Given the description of an element on the screen output the (x, y) to click on. 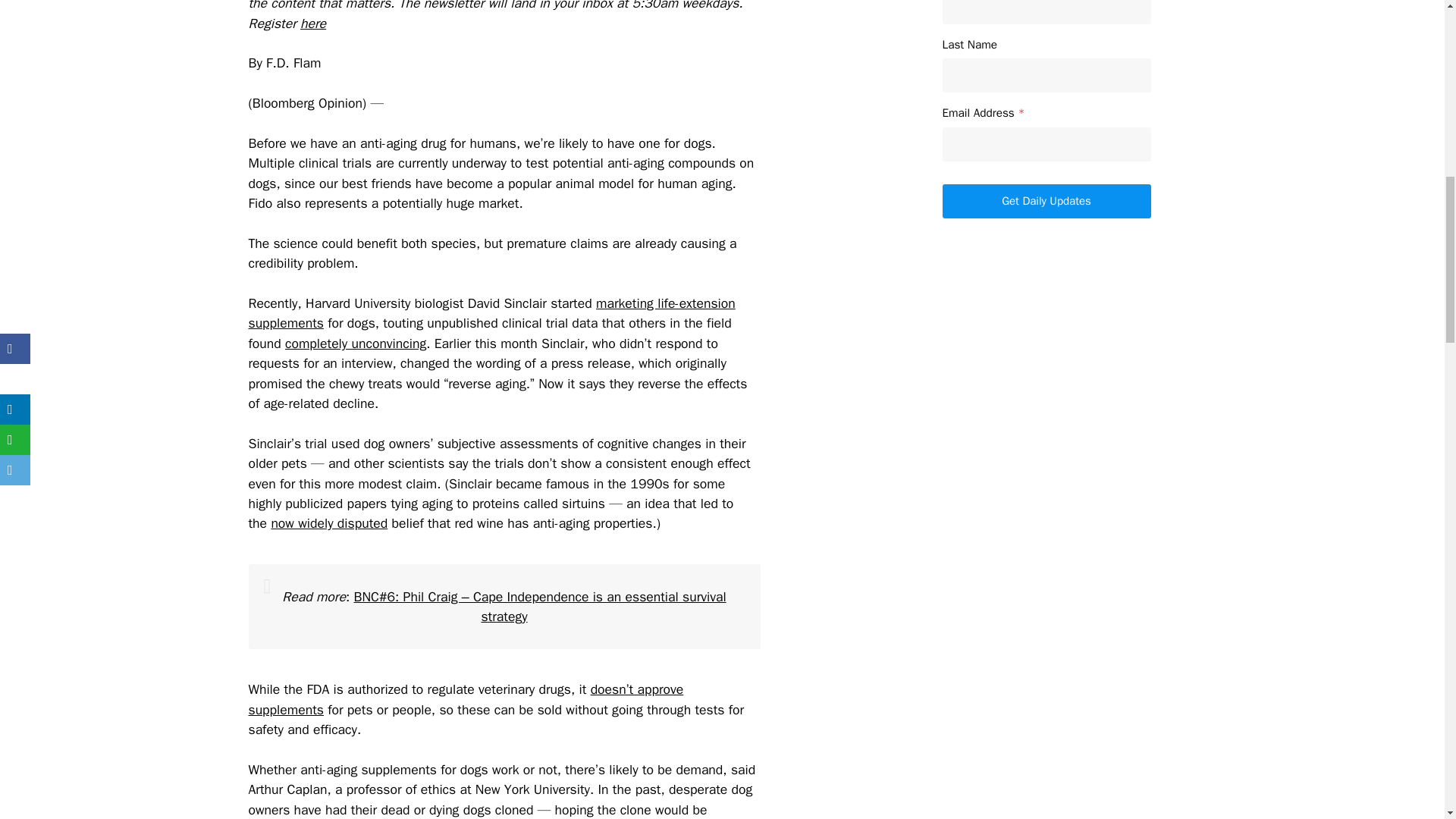
now widely disputed (328, 523)
marketing life-extension supplements (491, 312)
here (312, 23)
Get Daily Updates (1046, 201)
completely unconvincing (355, 343)
